Given the description of an element on the screen output the (x, y) to click on. 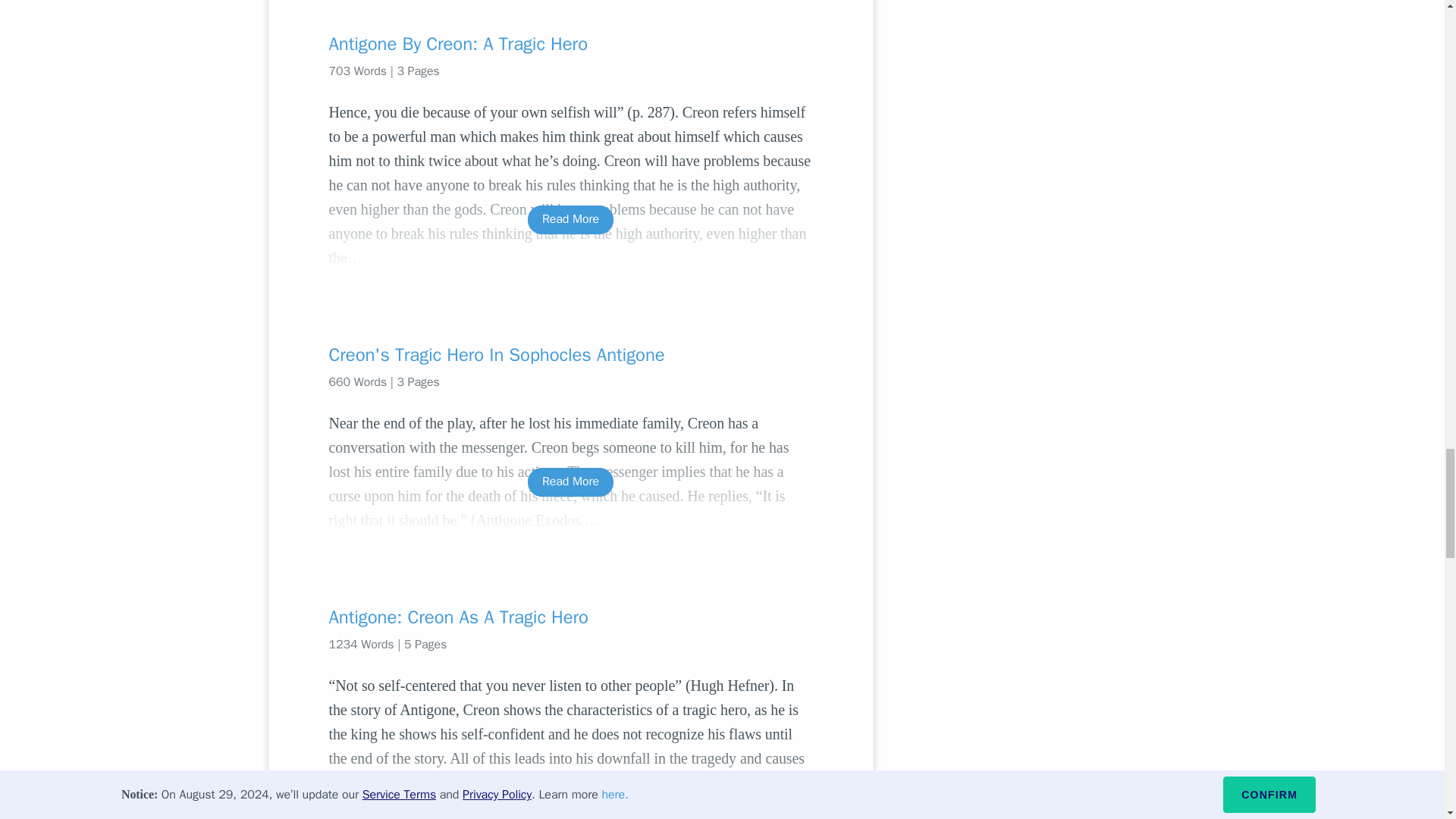
Read More (569, 792)
Antigone: Creon As A Tragic Hero (570, 617)
Read More (569, 481)
Read More (569, 219)
Creon's Tragic Hero In Sophocles Antigone (570, 354)
Antigone By Creon: A Tragic Hero (570, 43)
